Given the description of an element on the screen output the (x, y) to click on. 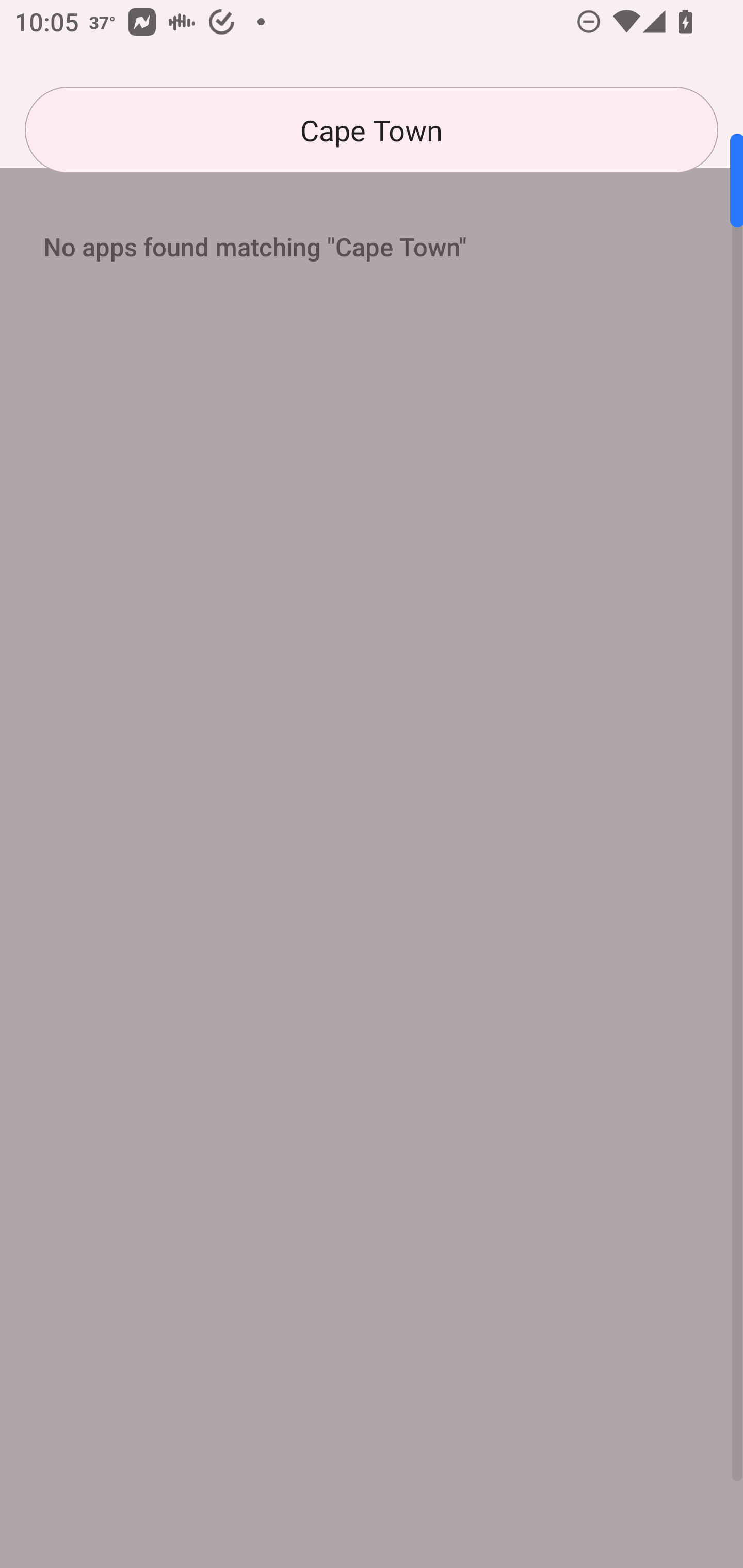
Cape Town (371, 130)
